Given the description of an element on the screen output the (x, y) to click on. 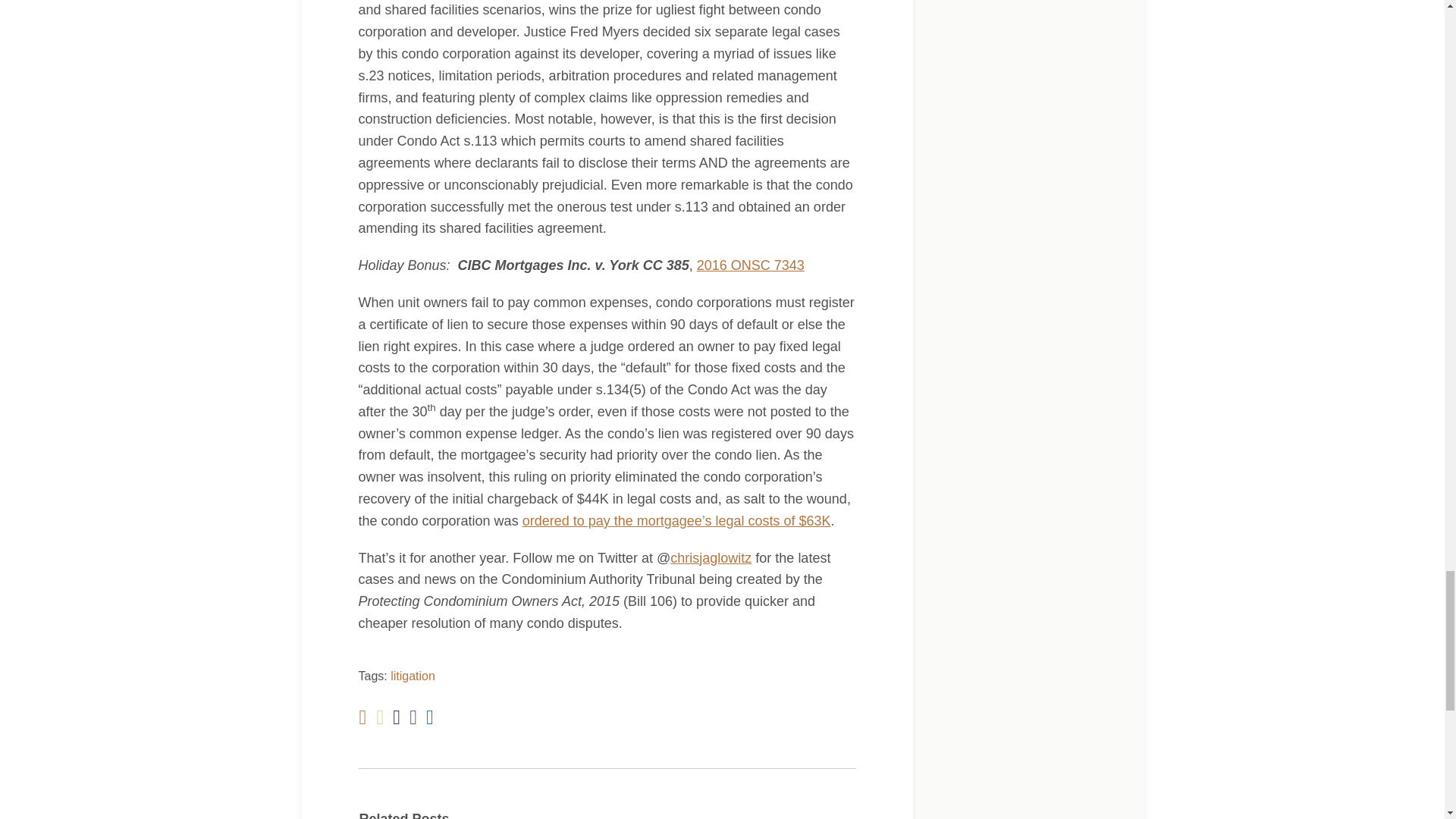
litigation (412, 675)
Print: (362, 716)
Like this post (412, 717)
chrisjaglowitz (710, 557)
2016 ONSC 7343 (751, 264)
Tweet this post (396, 717)
Email this post (379, 717)
